Given the description of an element on the screen output the (x, y) to click on. 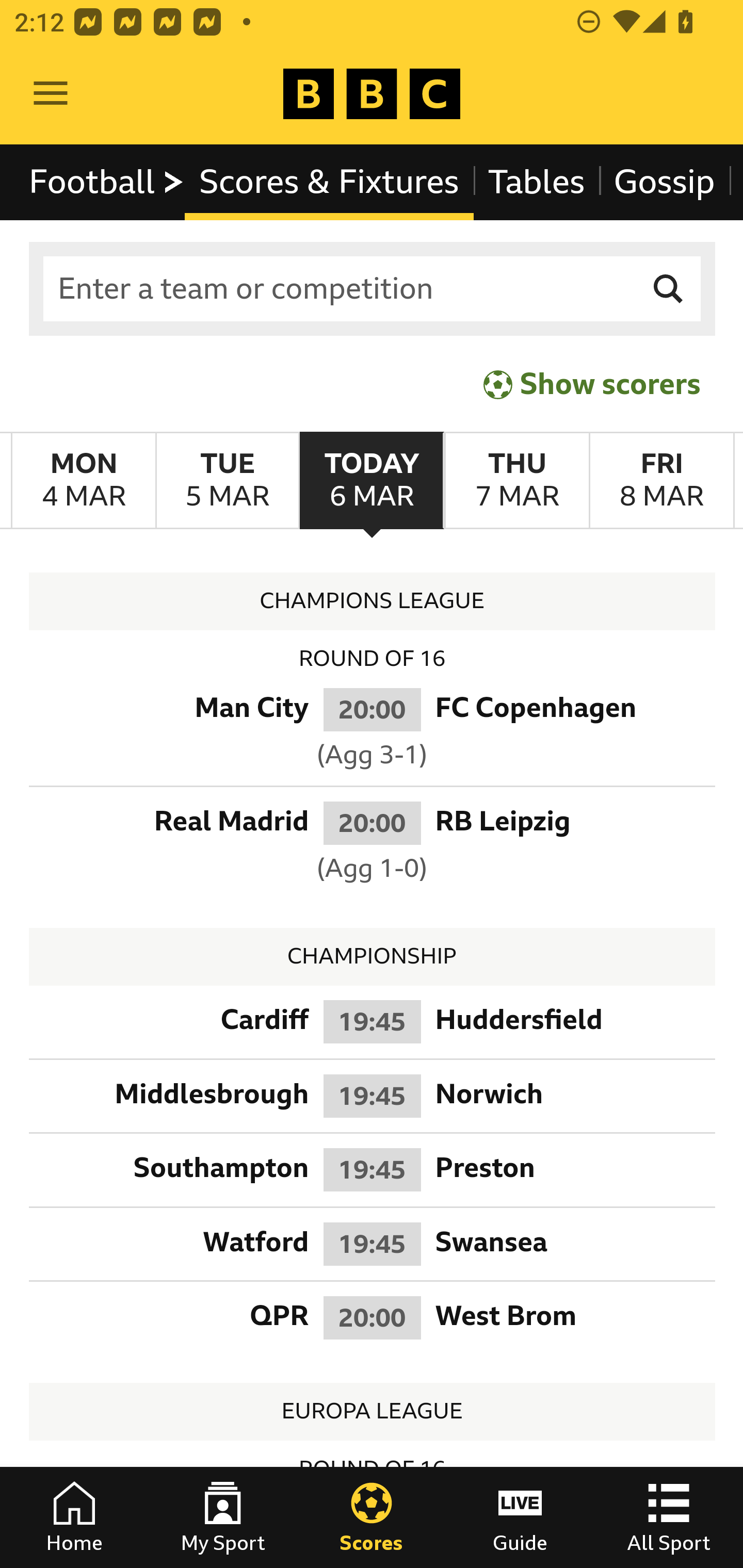
Open Menu (50, 93)
Football  (106, 181)
Scores & Fixtures (329, 181)
Tables (536, 181)
Gossip (664, 181)
Search (669, 289)
Show scorers (591, 383)
MondayMarch 4th Monday March 4th (83, 480)
TuesdayMarch 5th Tuesday March 5th (227, 480)
ThursdayMarch 7th Thursday March 7th (516, 480)
FridayMarch 8th Friday March 8th (661, 480)
Home (74, 1517)
My Sport (222, 1517)
Guide (519, 1517)
All Sport (668, 1517)
